Given the description of an element on the screen output the (x, y) to click on. 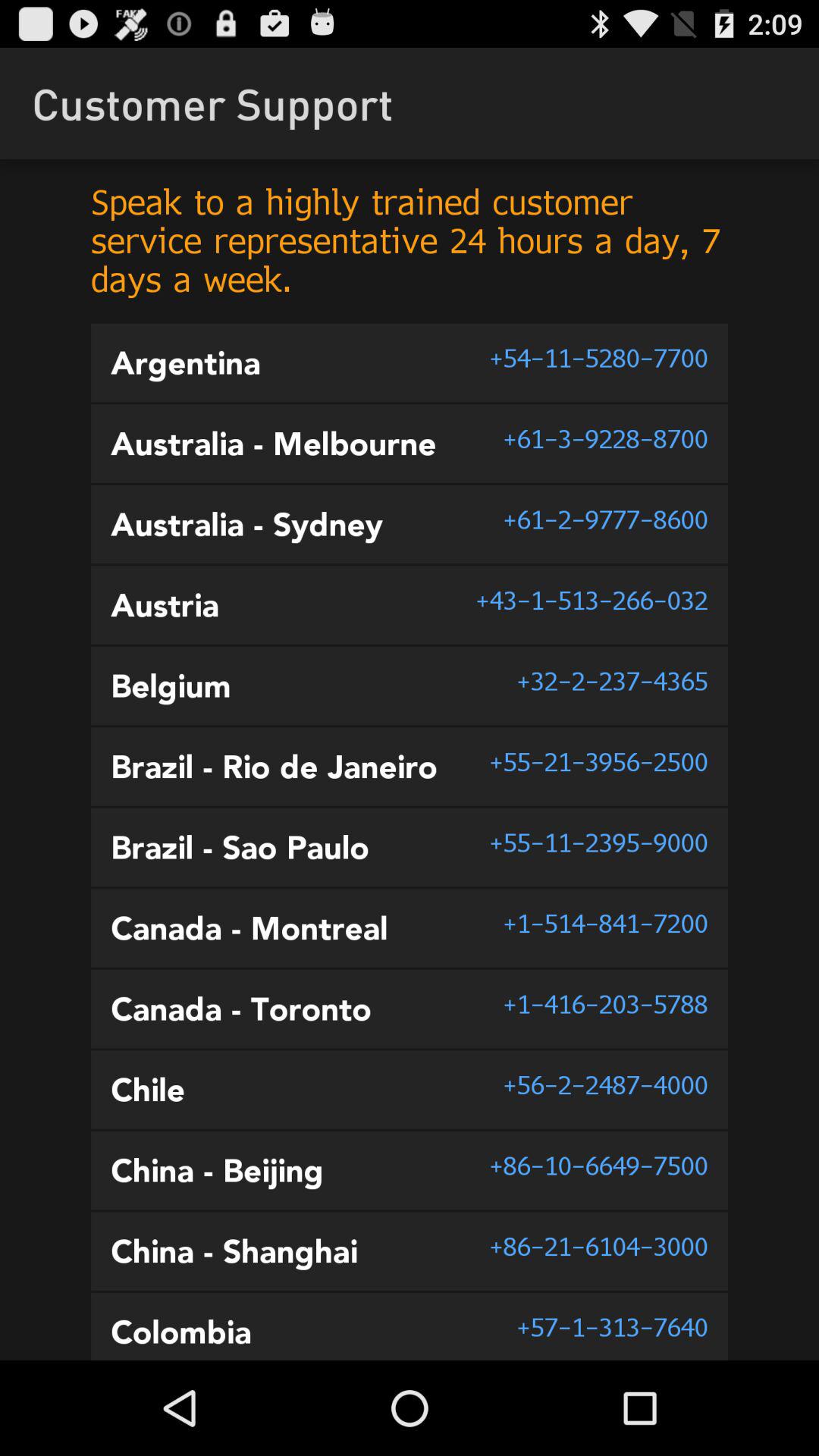
flip until 54 11 5280 item (598, 357)
